Given the description of an element on the screen output the (x, y) to click on. 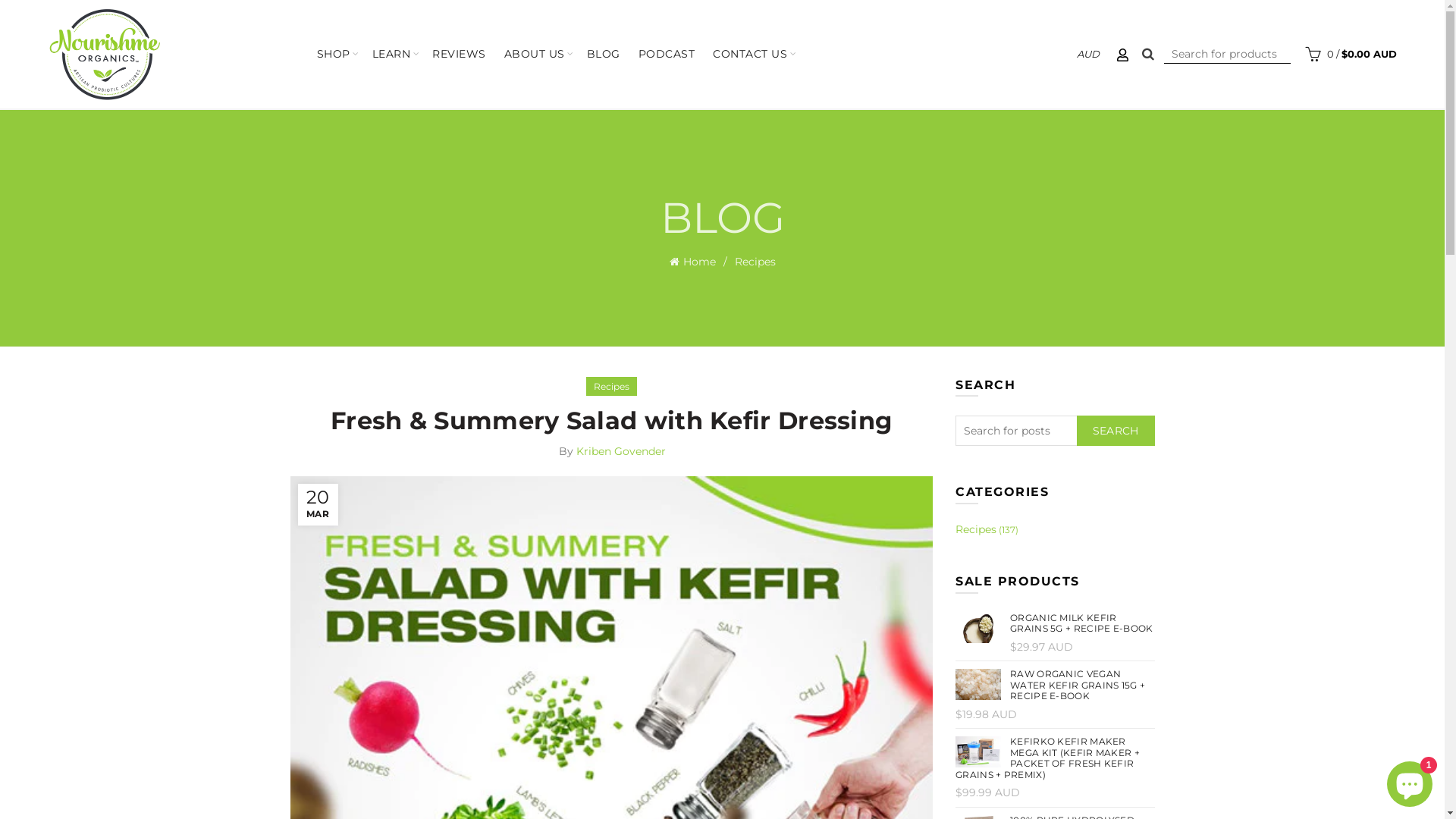
SHOP Element type: text (333, 54)
Shopify online store chat Element type: hover (1409, 780)
Recipes Element type: text (611, 385)
AUD Element type: text (1087, 53)
0 / $0.00 AUD Element type: text (1348, 53)
Recipes Element type: text (754, 261)
Home Element type: text (701, 261)
BLOG Element type: text (603, 54)
Recipes Element type: text (975, 529)
SEARCH Element type: text (1115, 430)
ABOUT US Element type: text (534, 54)
ORGANIC MILK KEFIR GRAINS 5G + RECIPE E-BOOK Element type: text (1054, 623)
RAW ORGANIC VEGAN WATER KEFIR GRAINS 15G + RECIPE E-BOOK Element type: text (1054, 684)
LEARN Element type: text (391, 54)
CONTACT US Element type: text (749, 54)
REVIEWS Element type: text (458, 54)
PODCAST Element type: text (666, 54)
Kriben Govender Element type: text (620, 451)
